Given the description of an element on the screen output the (x, y) to click on. 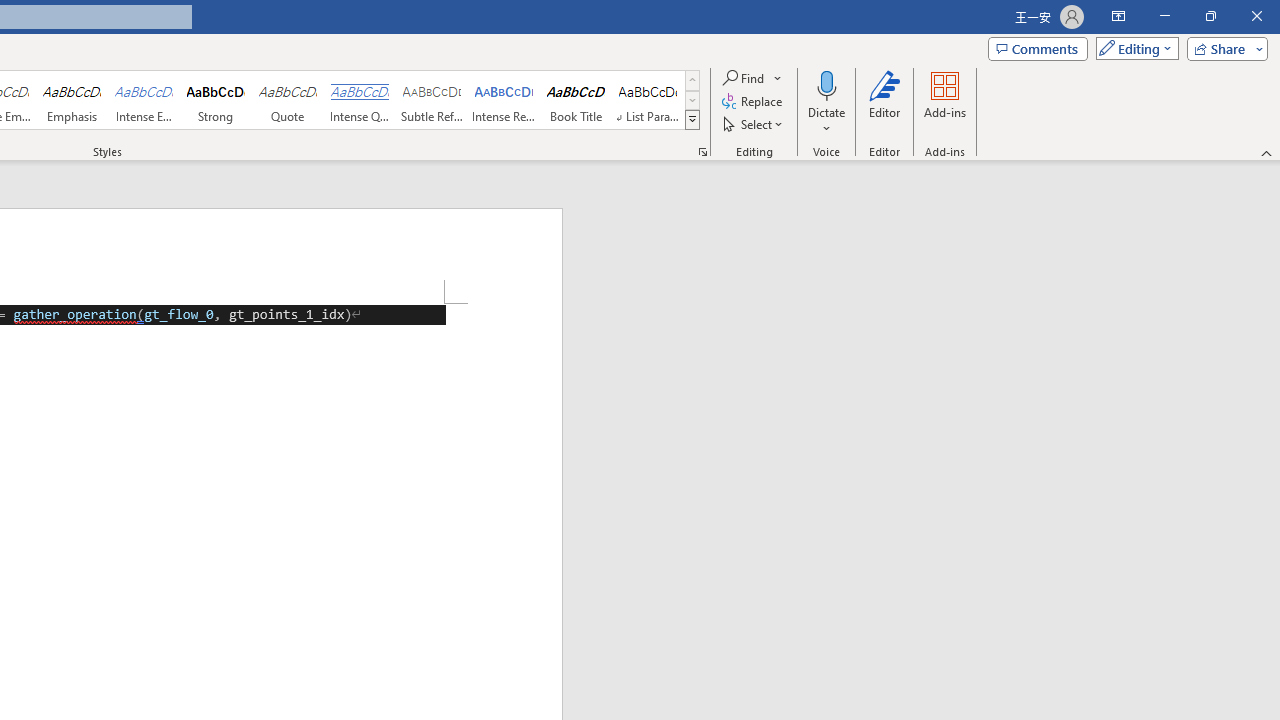
Emphasis (71, 100)
